Given the description of an element on the screen output the (x, y) to click on. 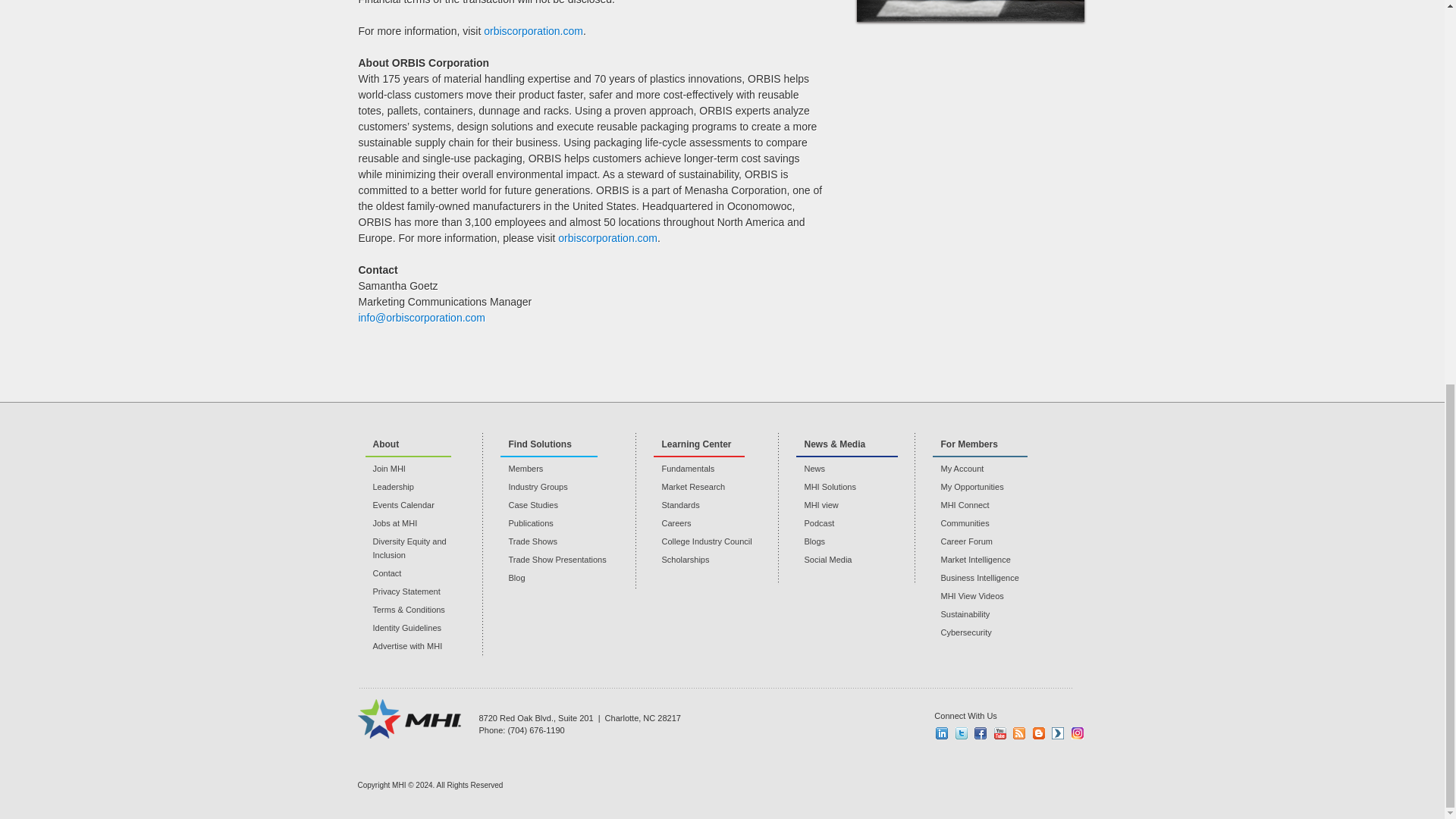
orbiscorporation.com (533, 30)
Trade Shows (568, 540)
About (408, 445)
Members (568, 468)
Blog (568, 577)
Events Calendar (424, 504)
Fundamentals (715, 468)
Privacy Statement (424, 591)
orbiscorporation.com (607, 237)
Follow the MHI channel on YouTube (1000, 733)
